Given the description of an element on the screen output the (x, y) to click on. 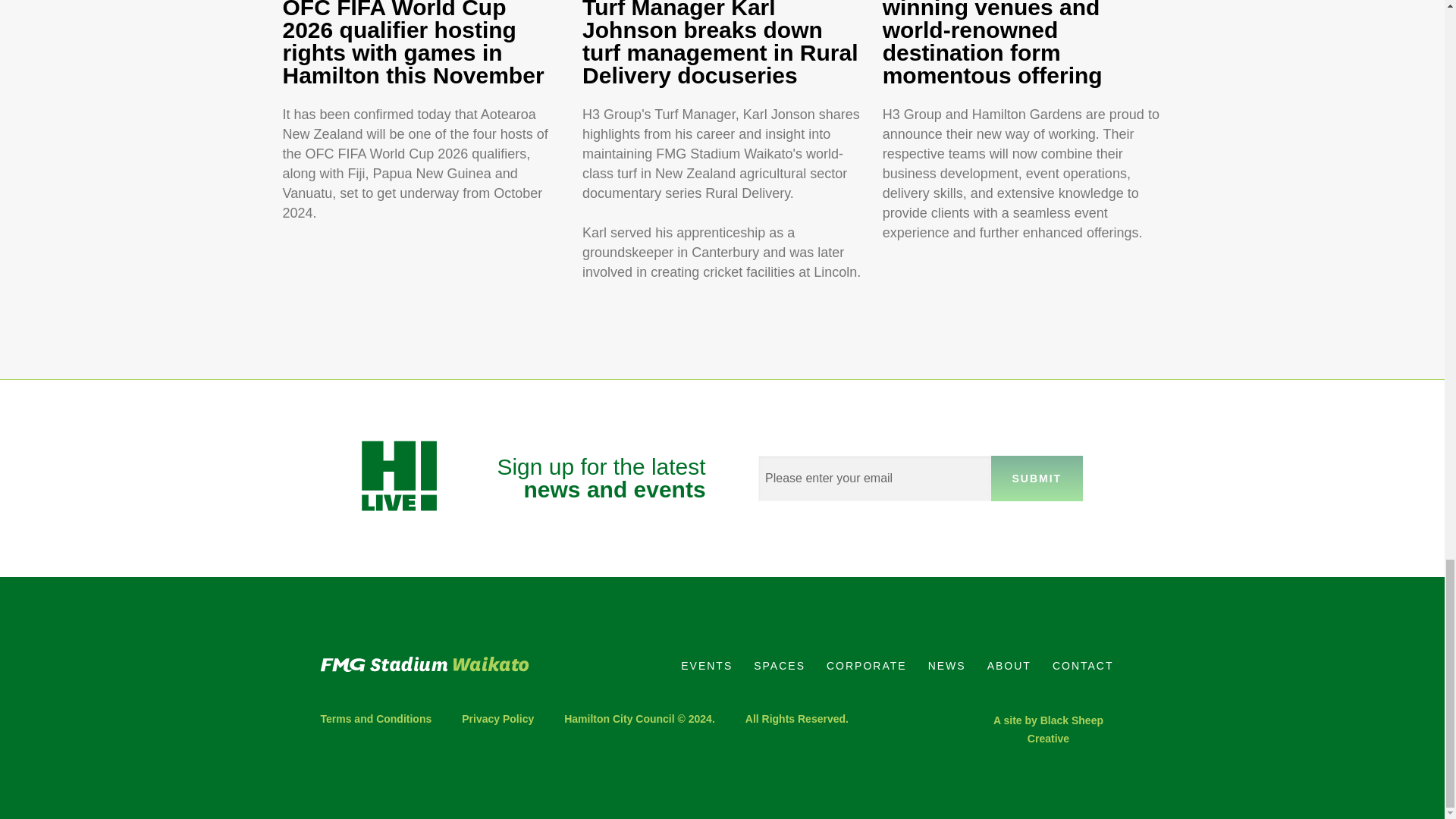
ABOUT (1009, 665)
Terms and Conditions (383, 718)
Privacy Policy (497, 718)
SPACES (778, 665)
EVENTS (705, 665)
CORPORATE (866, 665)
SUBMIT (1037, 478)
A site by Black Sheep Creative (1047, 729)
CONTACT (1083, 665)
